Given the description of an element on the screen output the (x, y) to click on. 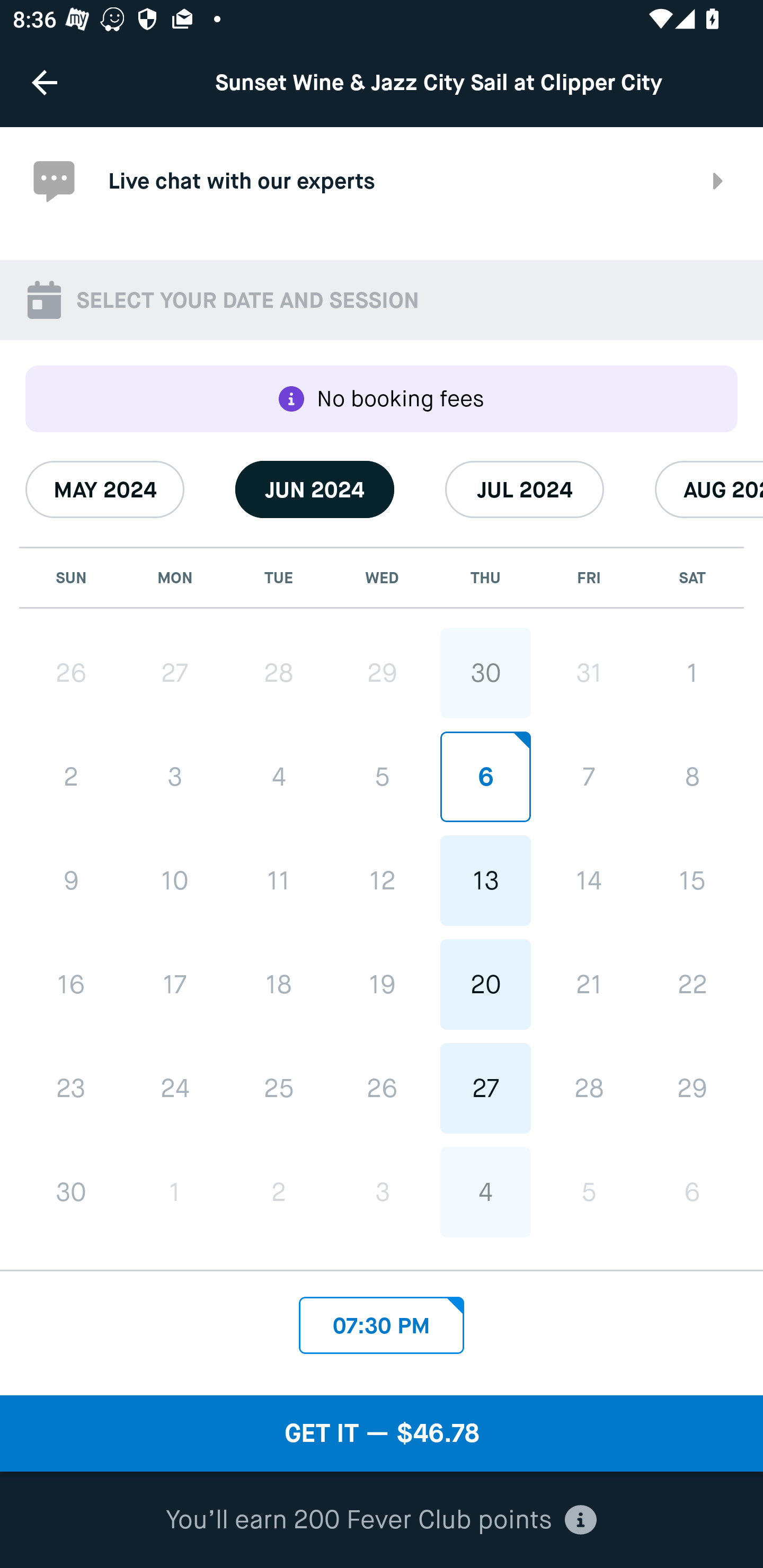
Navigate up (44, 82)
Live chat with our experts (381, 181)
MAY 2024 (104, 488)
JUN 2024 (314, 488)
JUL 2024 (524, 488)
AUG 2024 (708, 488)
26 (70, 672)
27 (174, 672)
28 (278, 672)
29 (382, 672)
30 (485, 672)
31 (588, 672)
1 (692, 672)
2 (70, 777)
3 (174, 777)
4 (278, 777)
5 (382, 776)
6 (485, 776)
7 (588, 776)
8 (692, 776)
9 (70, 880)
10 (174, 880)
11 (278, 880)
12 (382, 880)
13 (485, 880)
14 (588, 880)
15 (692, 880)
16 (70, 984)
17 (174, 984)
18 (278, 984)
19 (382, 984)
20 (485, 984)
21 (588, 984)
22 (692, 984)
23 (70, 1087)
24 (174, 1087)
25 (278, 1087)
26 (382, 1087)
27 (485, 1087)
28 (588, 1087)
29 (692, 1087)
30 (70, 1192)
1 (174, 1192)
2 (278, 1192)
3 (382, 1191)
4 (485, 1191)
5 (588, 1191)
6 (692, 1191)
07:30 PM (381, 1320)
GET IT — $46.78 (381, 1433)
